Given the description of an element on the screen output the (x, y) to click on. 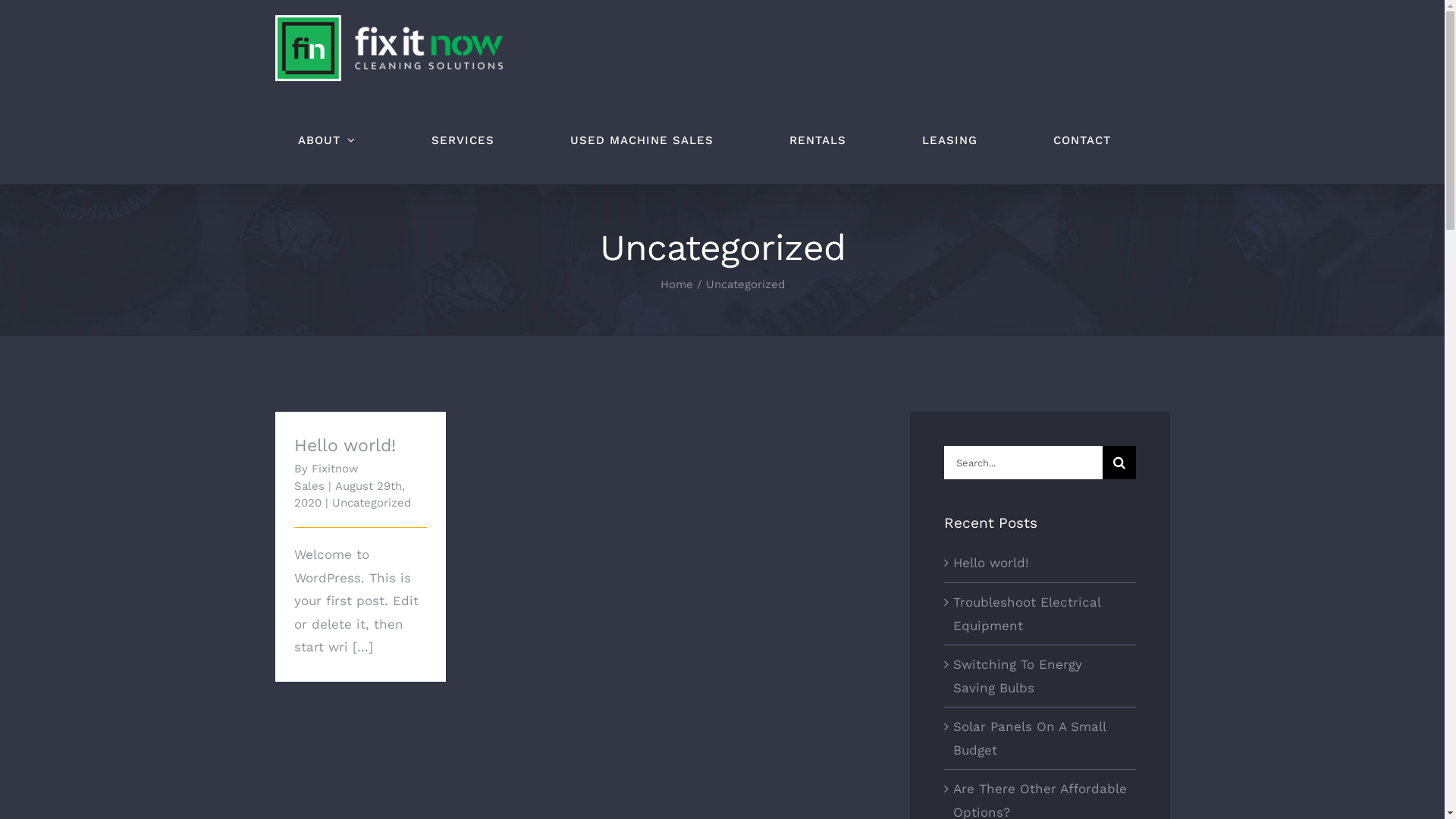
CONTACT Element type: text (1080, 140)
Fixitnow Sales Element type: text (326, 476)
ABOUT Element type: text (325, 140)
Uncategorized Element type: text (371, 502)
Home Element type: text (675, 284)
Hello world! Element type: text (991, 562)
Solar Panels On A Small Budget Element type: text (1029, 737)
Hello world! Element type: text (344, 445)
Switching To Energy Saving Bulbs Element type: text (1017, 675)
RENTALS Element type: text (816, 140)
USED MACHINE SALES Element type: text (641, 140)
LEASING Element type: text (949, 140)
Troubleshoot Electrical Equipment Element type: text (1026, 613)
SERVICES Element type: text (462, 140)
